Given the description of an element on the screen output the (x, y) to click on. 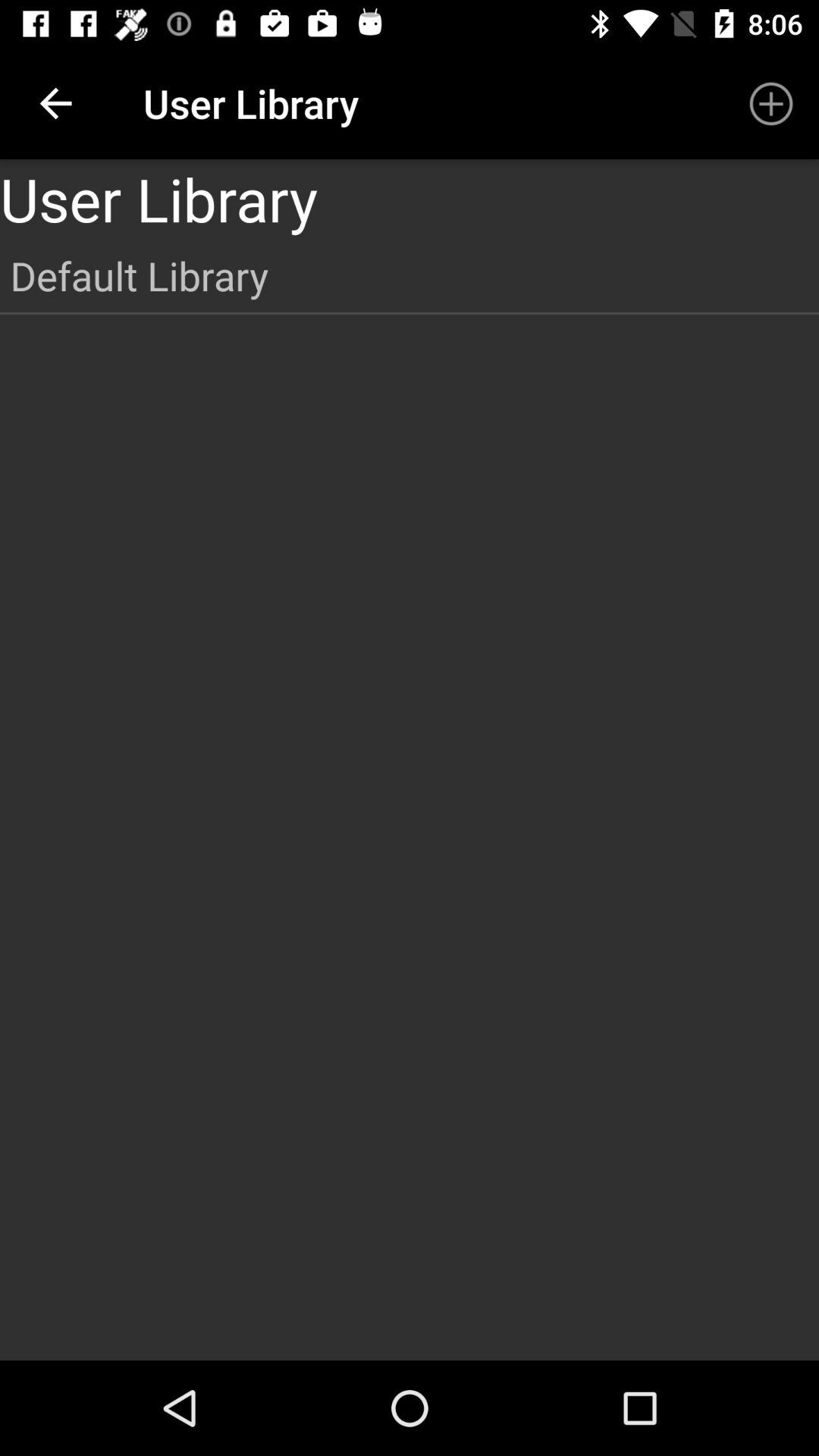
launch the item to the right of user library icon (771, 103)
